Given the description of an element on the screen output the (x, y) to click on. 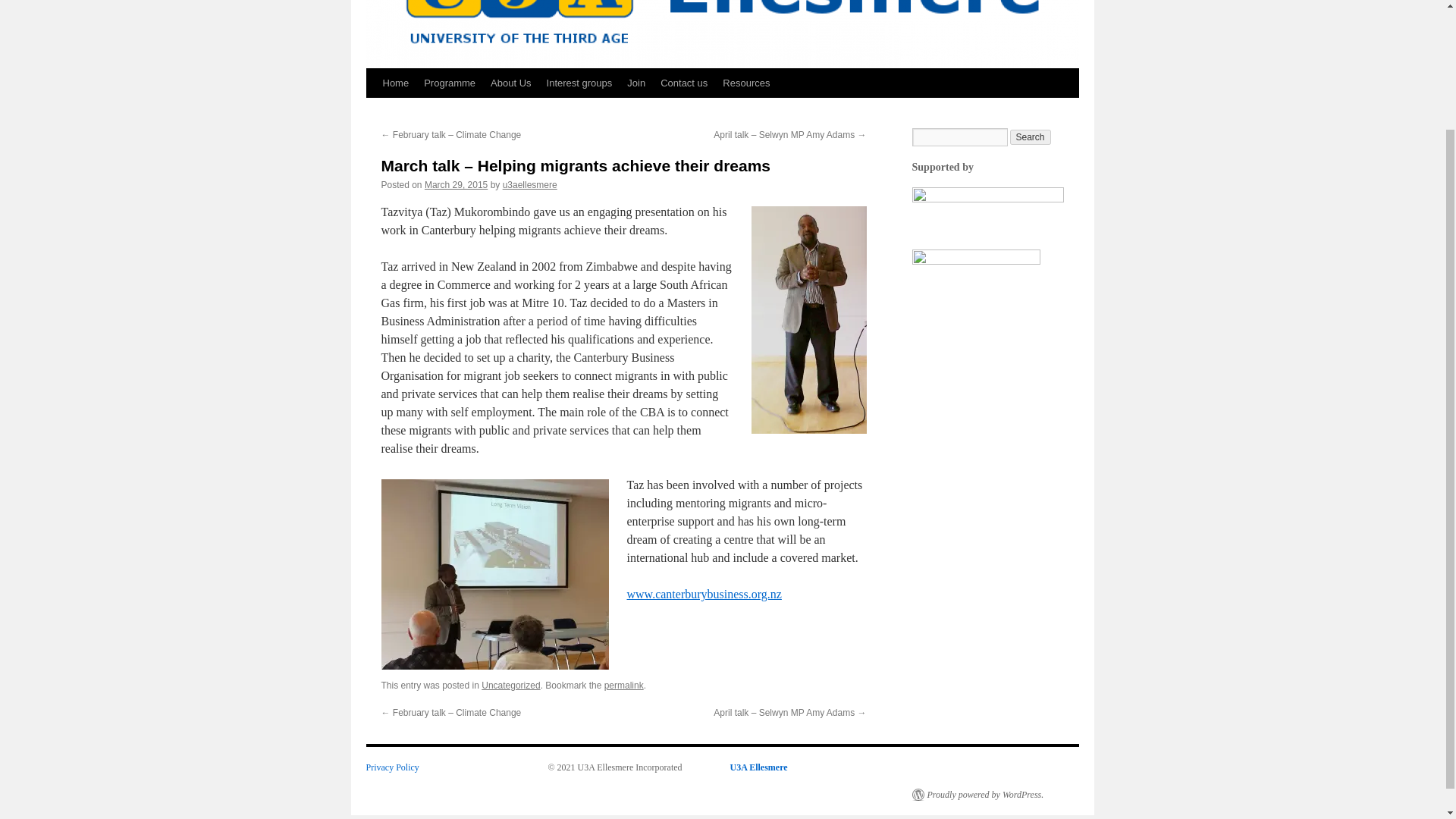
Semantic Personal Publishing Platform (977, 794)
Programme (449, 82)
Uncategorized (510, 685)
March 29, 2015 (456, 184)
www.canterburybusiness.org.nz (703, 594)
About Us (510, 82)
Interest groups (579, 82)
Search (1030, 136)
permalink (623, 685)
Resources (745, 82)
